Given the description of an element on the screen output the (x, y) to click on. 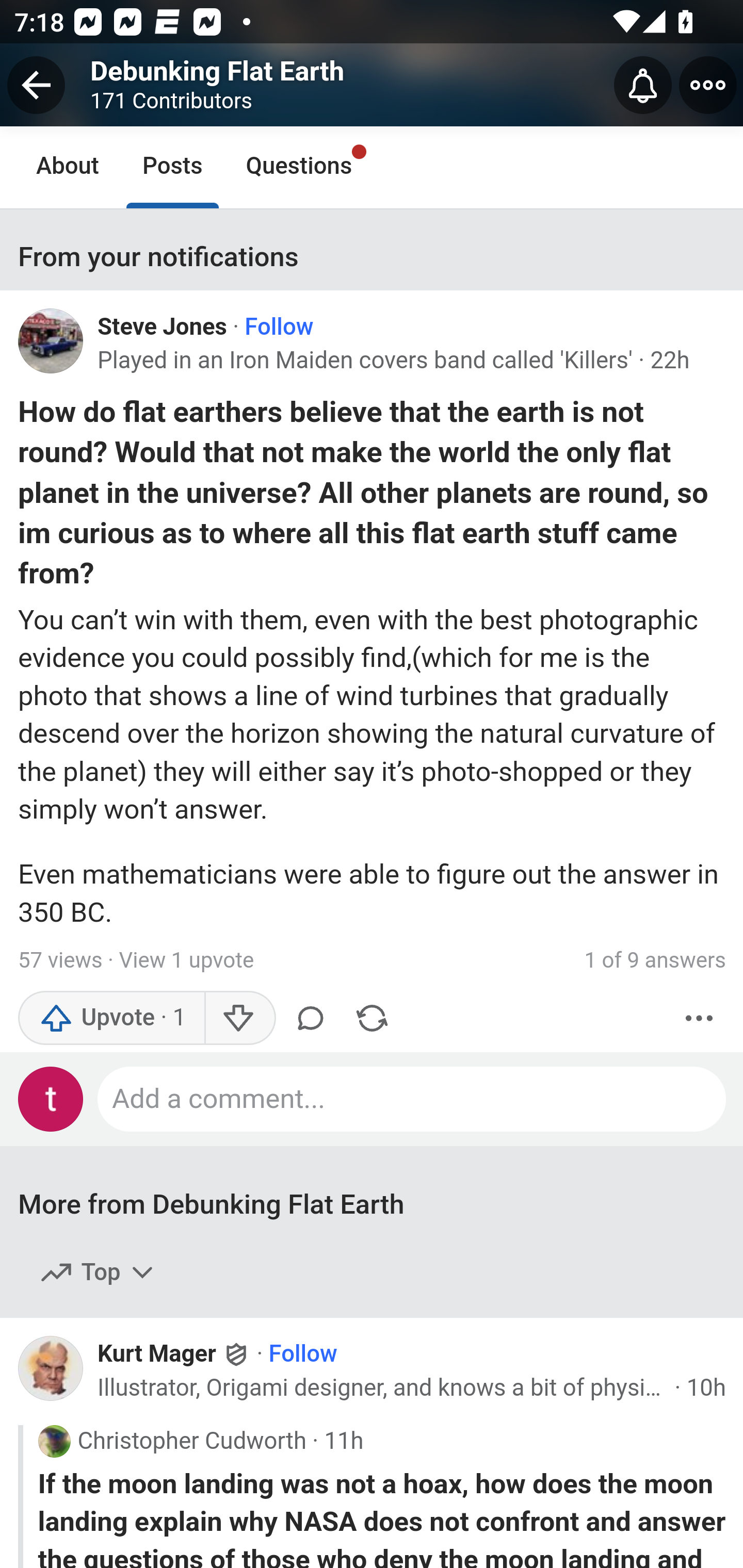
Me Notifications Search (371, 82)
About (68, 166)
Posts (171, 166)
Questions (299, 166)
Profile photo for Steve Jones (50, 341)
Steve Jones (162, 327)
Follow (278, 327)
22h 22 h (670, 360)
View 1 upvote (185, 961)
1 of 9 answers (655, 961)
Upvote (111, 1018)
Downvote (238, 1018)
Comment (310, 1018)
Share (372, 1018)
More (699, 1018)
Profile photo for Test Appium (50, 1099)
Add a comment... (412, 1099)
Top (97, 1272)
Profile photo for Kurt Mager (57, 1373)
Kurt Mager Kurt Mager   (174, 1353)
Follow (302, 1354)
10h 10 h (706, 1387)
Profile photo for Christopher Cudworth (54, 1440)
11h 11 h (343, 1442)
